Given the description of an element on the screen output the (x, y) to click on. 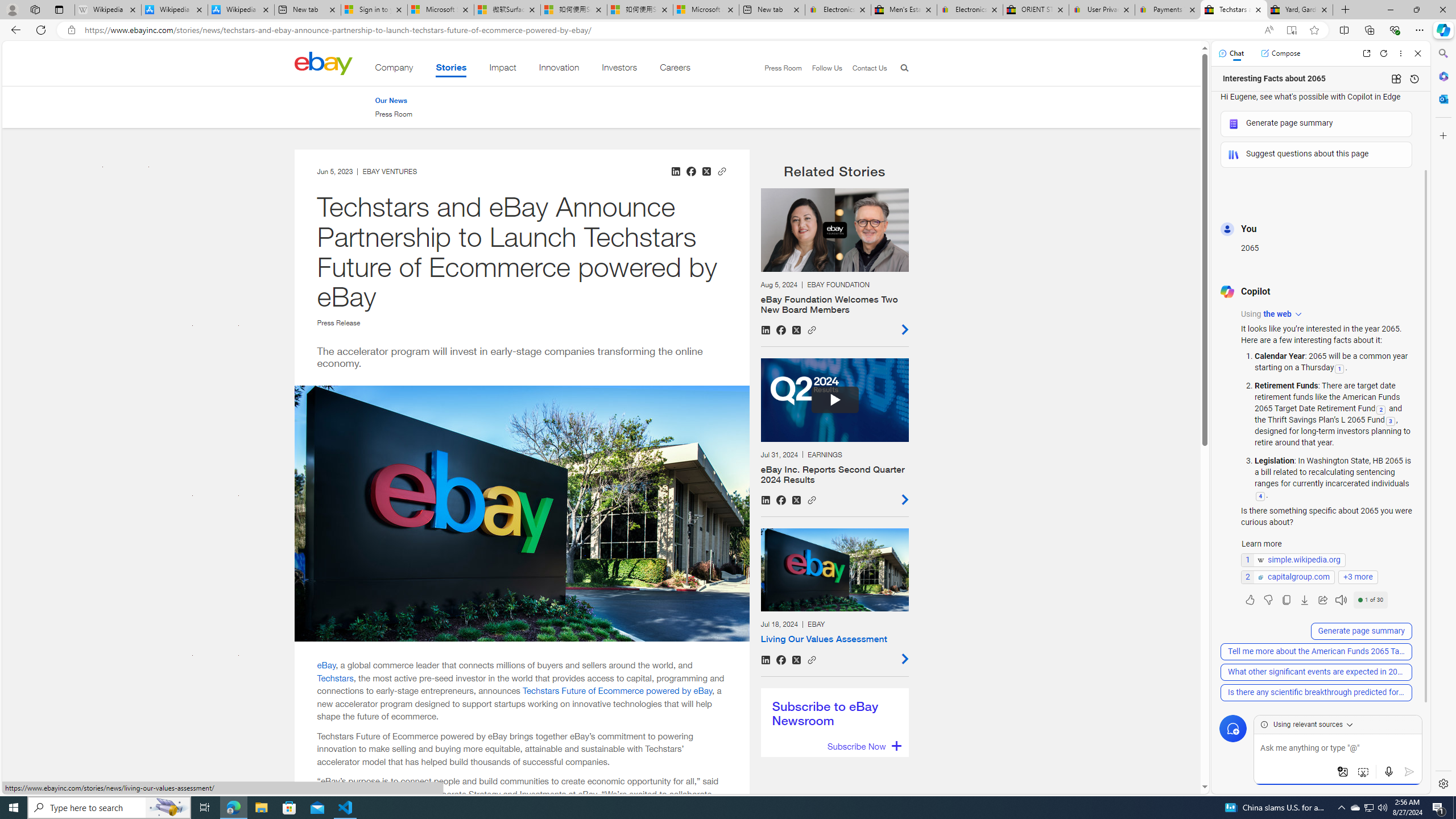
Impact (502, 69)
Chat (1231, 52)
Q2 2024 Results (834, 400)
Careers (674, 69)
Share on X (Twitter) (795, 659)
Article: Living Our Values Assessment (834, 596)
Share on Facebook (781, 659)
Techstars Future of Ecommerce powered by eBay (616, 690)
Our News (390, 99)
